Given the description of an element on the screen output the (x, y) to click on. 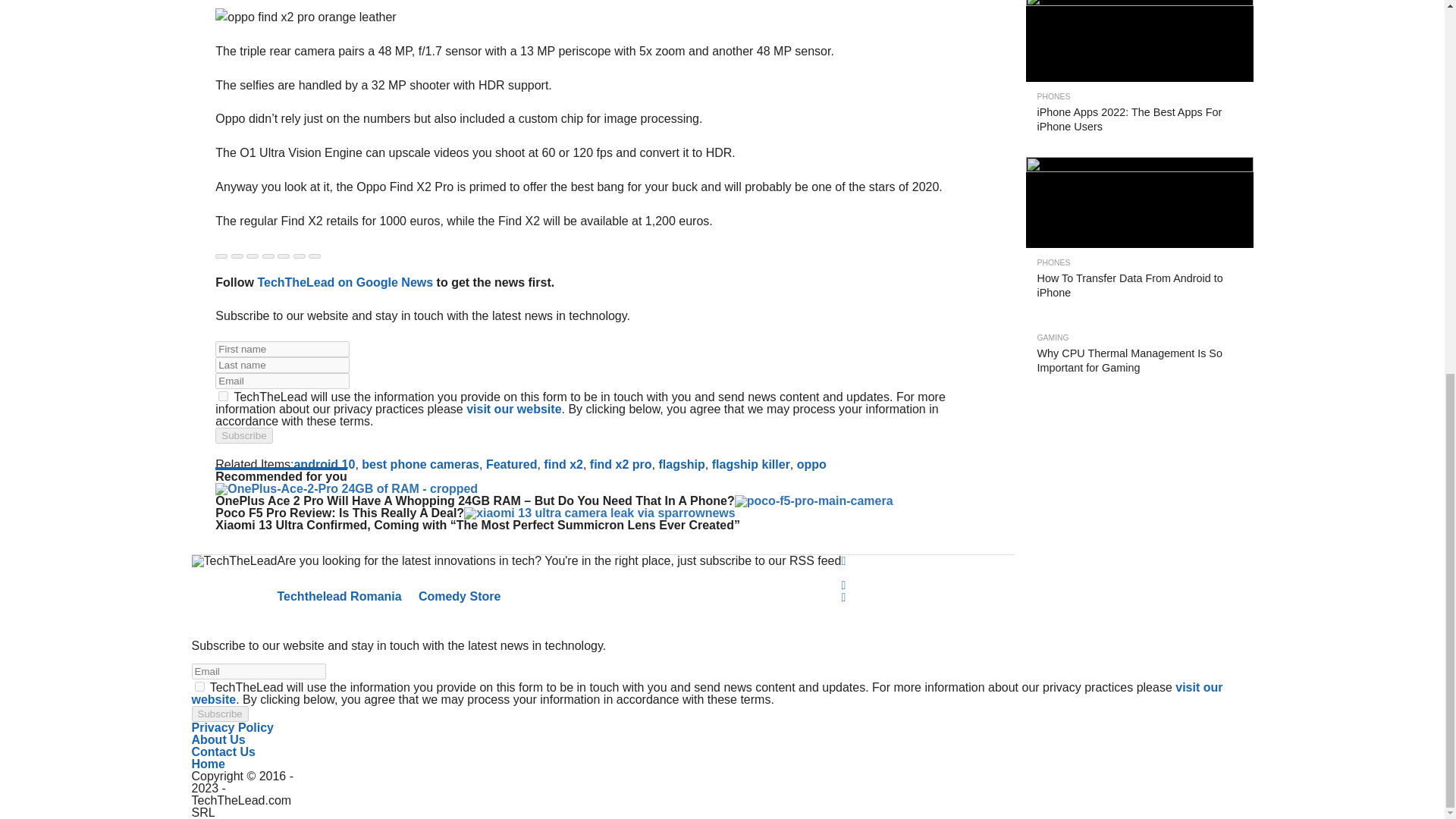
Subscribe (243, 435)
Subscribe (218, 713)
1 (223, 396)
1 (198, 686)
Poco F5 Pro Review: Is This Really A Deal? (814, 500)
